Given the description of an element on the screen output the (x, y) to click on. 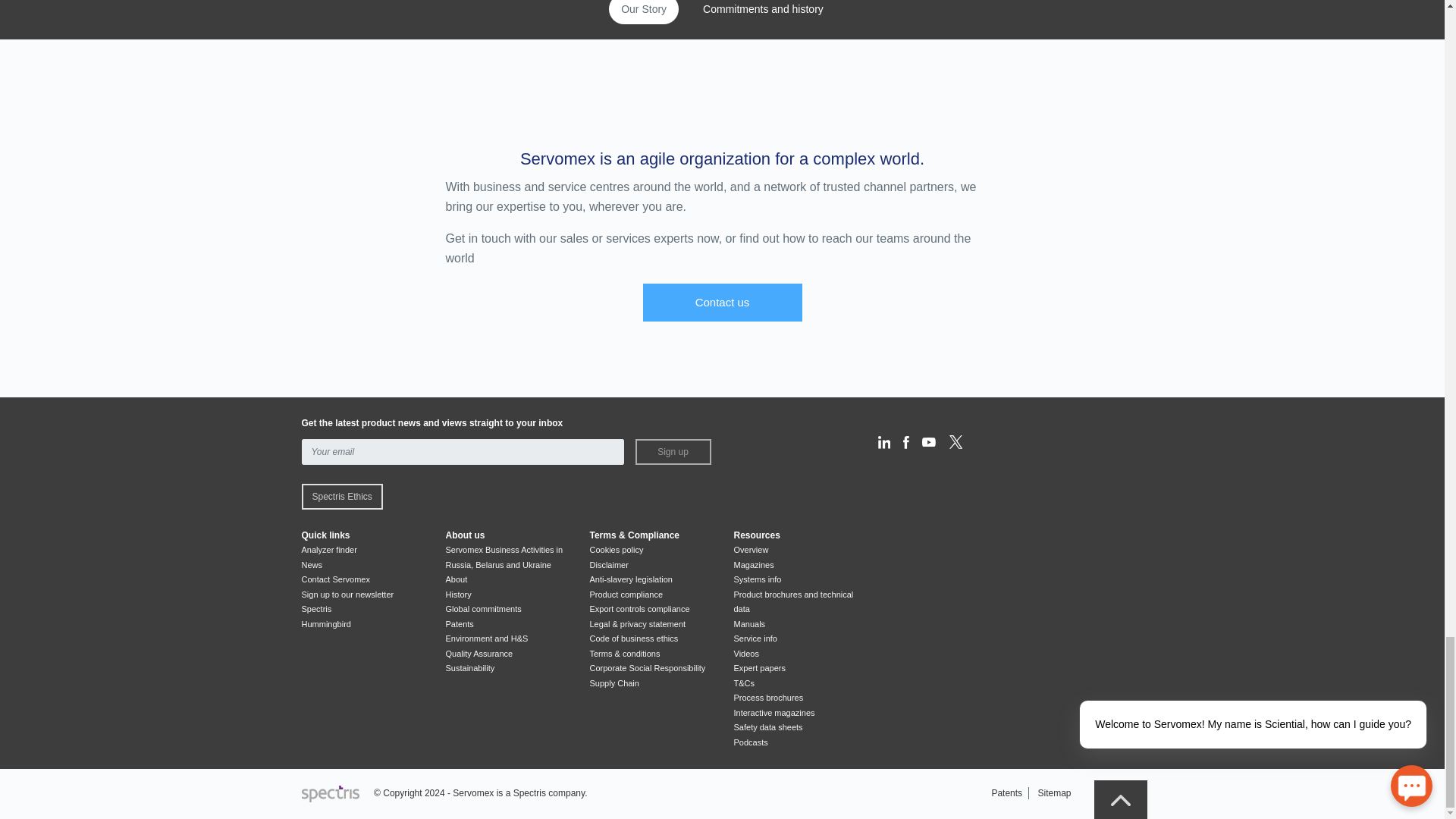
Please enter a valid email address (462, 451)
